Given the description of an element on the screen output the (x, y) to click on. 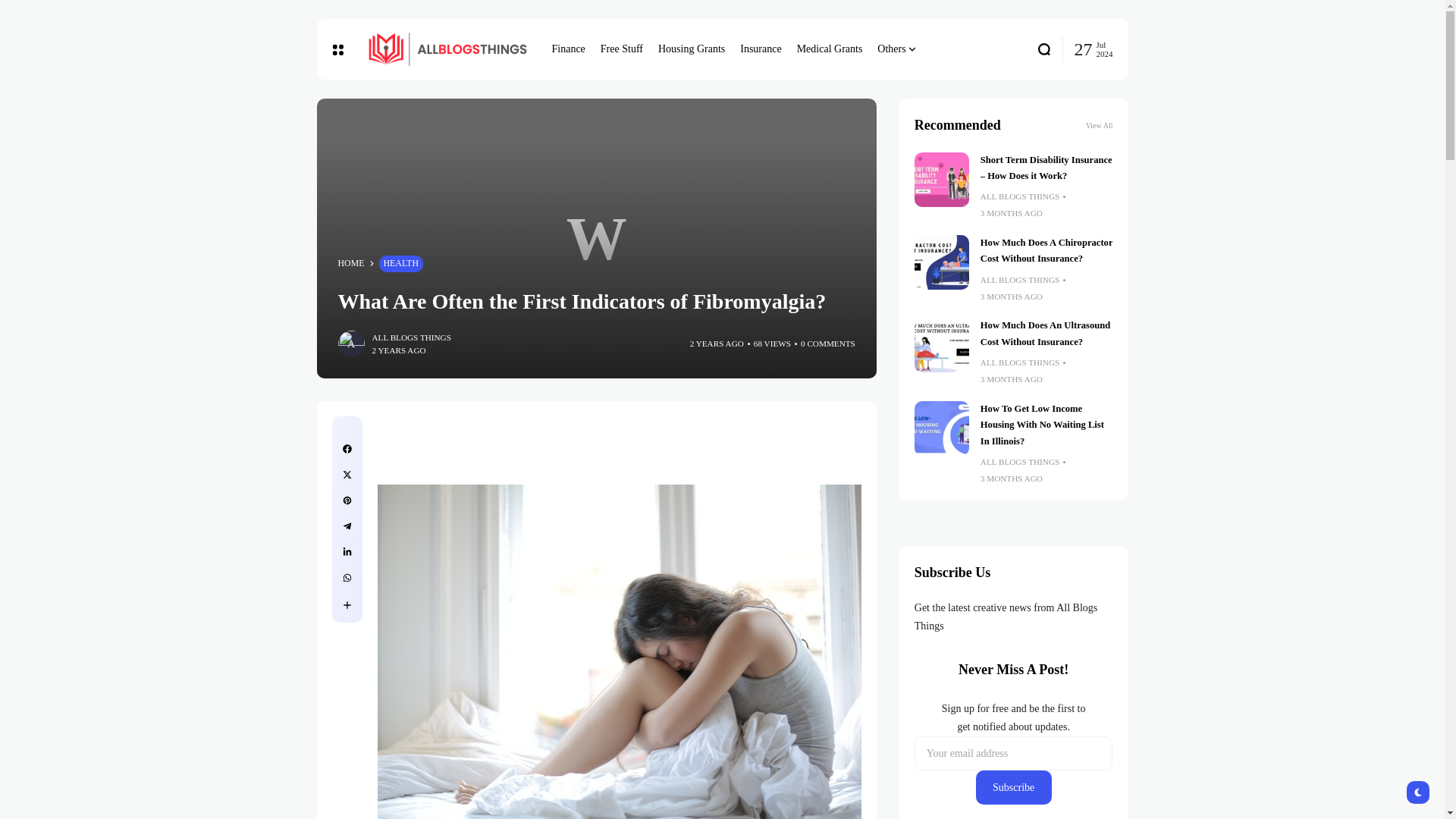
0 COMMENTS (828, 343)
How Much Does A Chiropractor Cost Without Insurance? (941, 262)
How Much Does An Ultrasound Cost Without Insurance? (941, 344)
HEALTH (400, 263)
Posts by All Blogs Things (1019, 279)
Posts by All Blogs Things (1019, 196)
2 YEARS AGO (717, 343)
Housing Grants (691, 48)
HOME (351, 264)
Medical Grants (829, 48)
How Much Does A Chiropractor Cost Without Insurance? (1046, 250)
ALL BLOGS THINGS (410, 337)
How Much Does An Ultrasound Cost Without Insurance? (1044, 333)
68 VIEWS (772, 343)
